Given the description of an element on the screen output the (x, y) to click on. 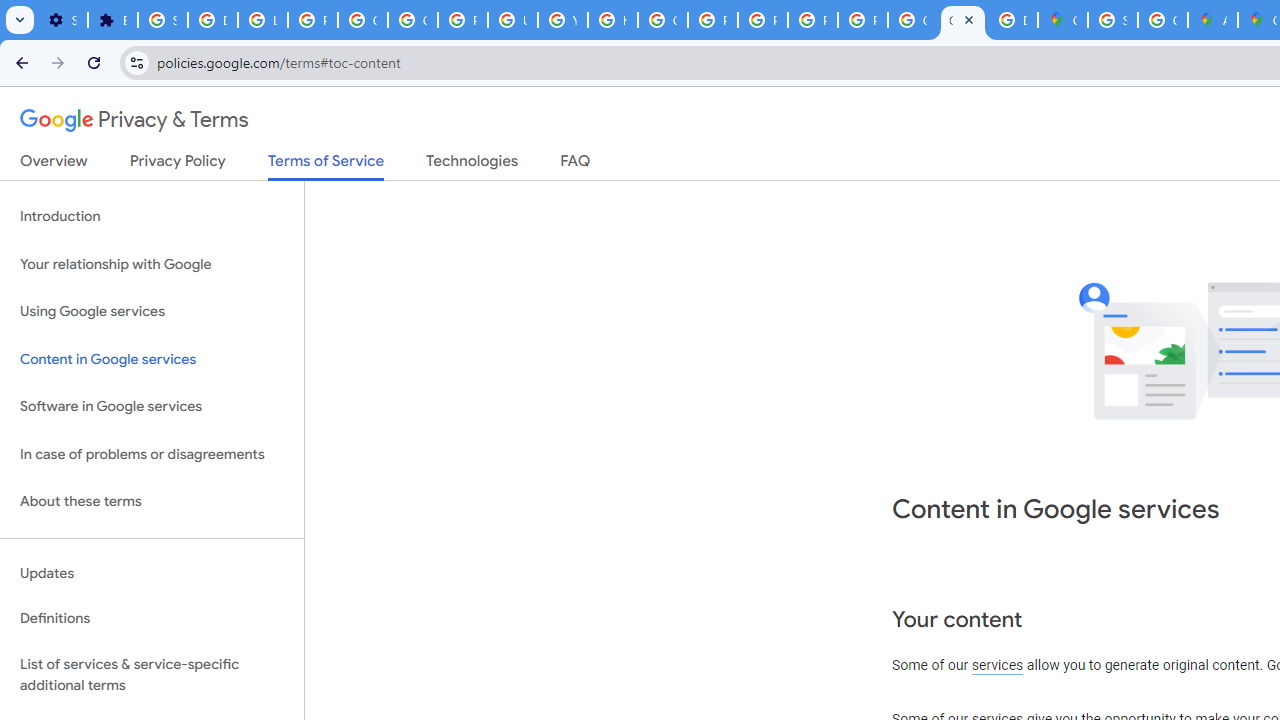
services (997, 666)
